Given the description of an element on the screen output the (x, y) to click on. 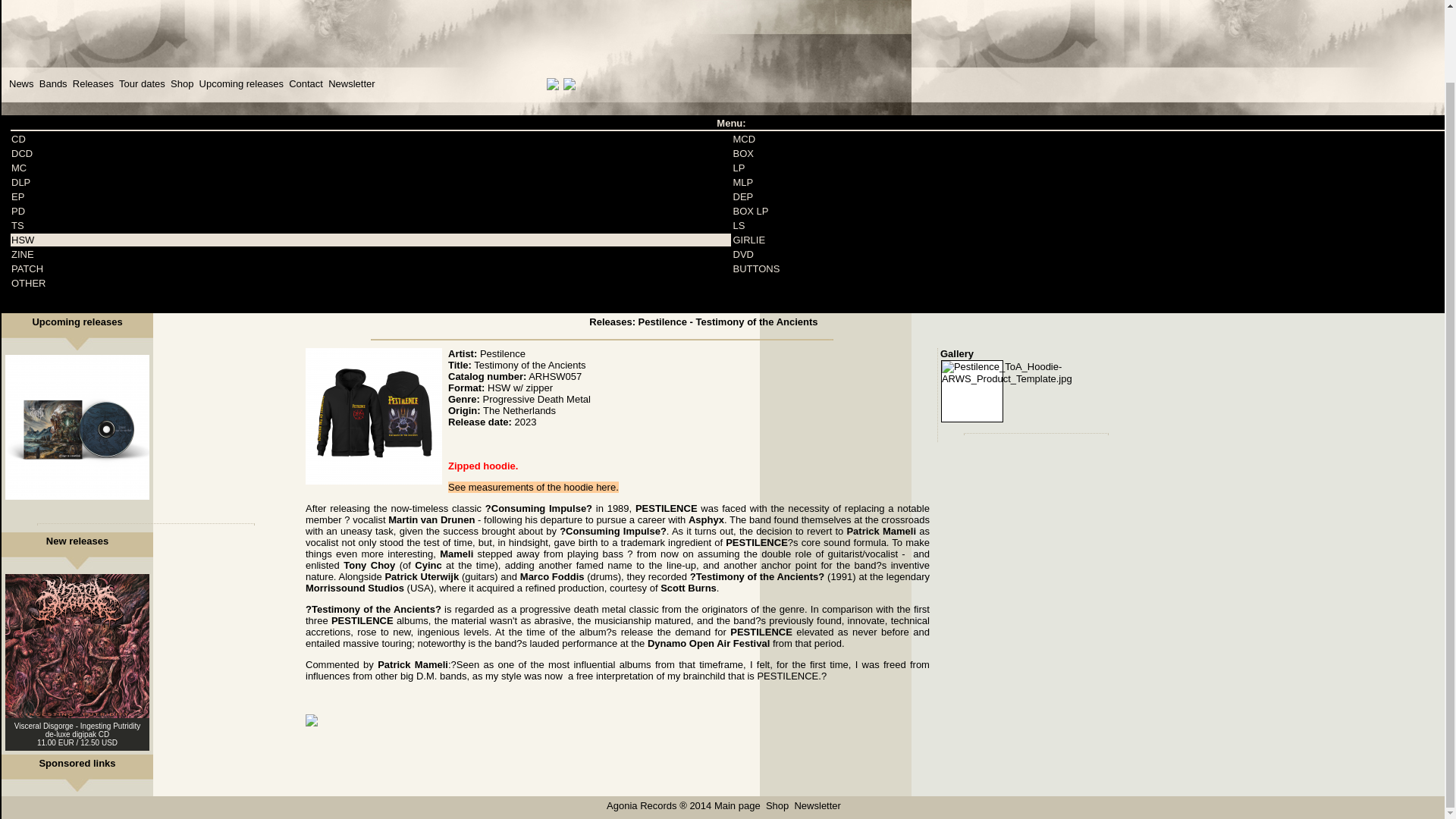
Bands (52, 83)
News (20, 83)
MCD (743, 138)
Contact (305, 83)
Contact (305, 83)
Tour dates (142, 83)
DLP (20, 182)
Shop (181, 83)
Upcoming releases (241, 83)
DEP (742, 196)
MLP (742, 182)
Bands (52, 83)
DVD (742, 254)
Tour dates (142, 83)
Upcoming releases (241, 83)
